Given the description of an element on the screen output the (x, y) to click on. 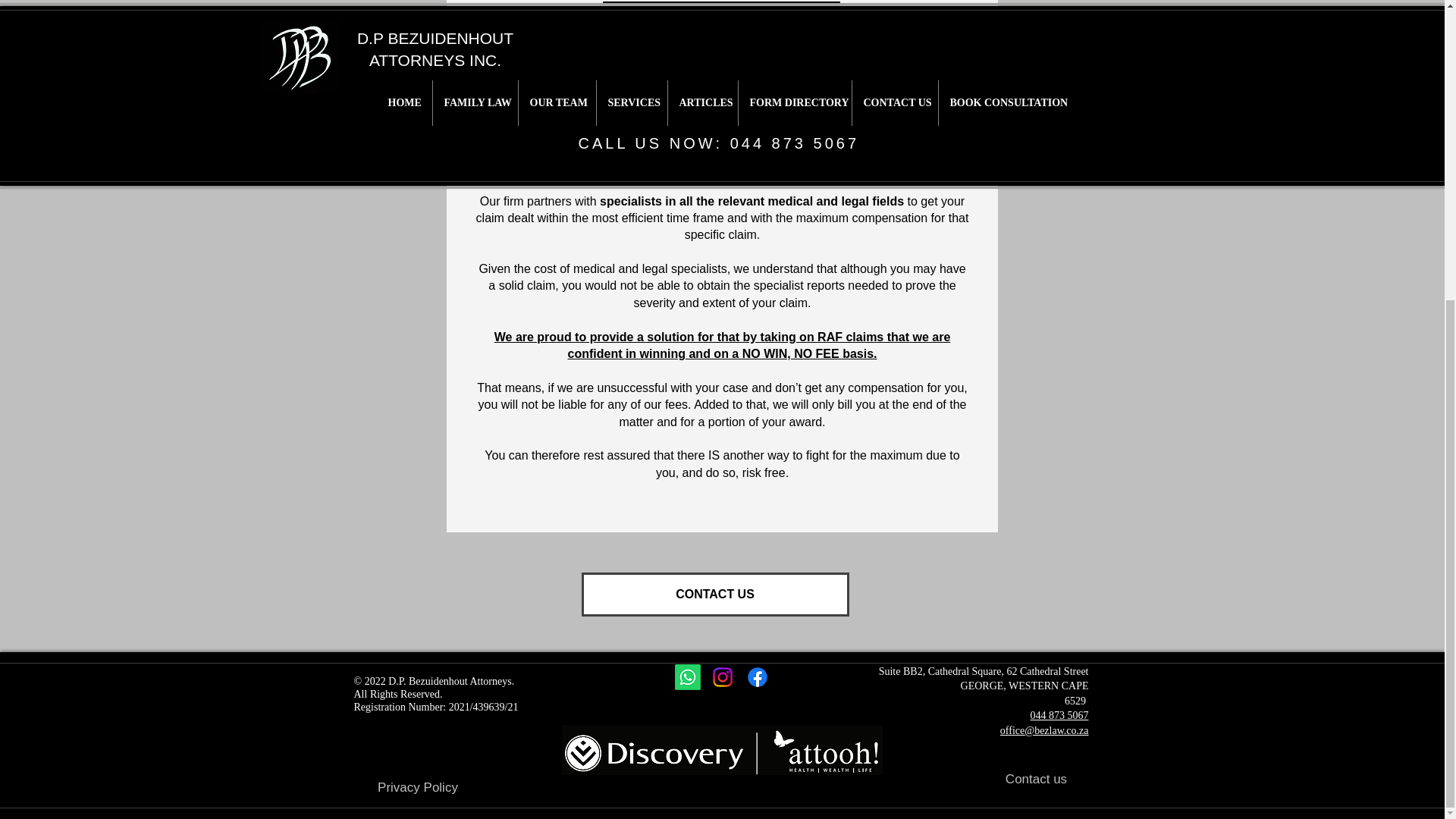
Privacy Policy (416, 787)
Road Accident Fund (555, 98)
CONTACT US (714, 594)
Contact us (1035, 779)
044 873 5067 (1058, 715)
